Given the description of an element on the screen output the (x, y) to click on. 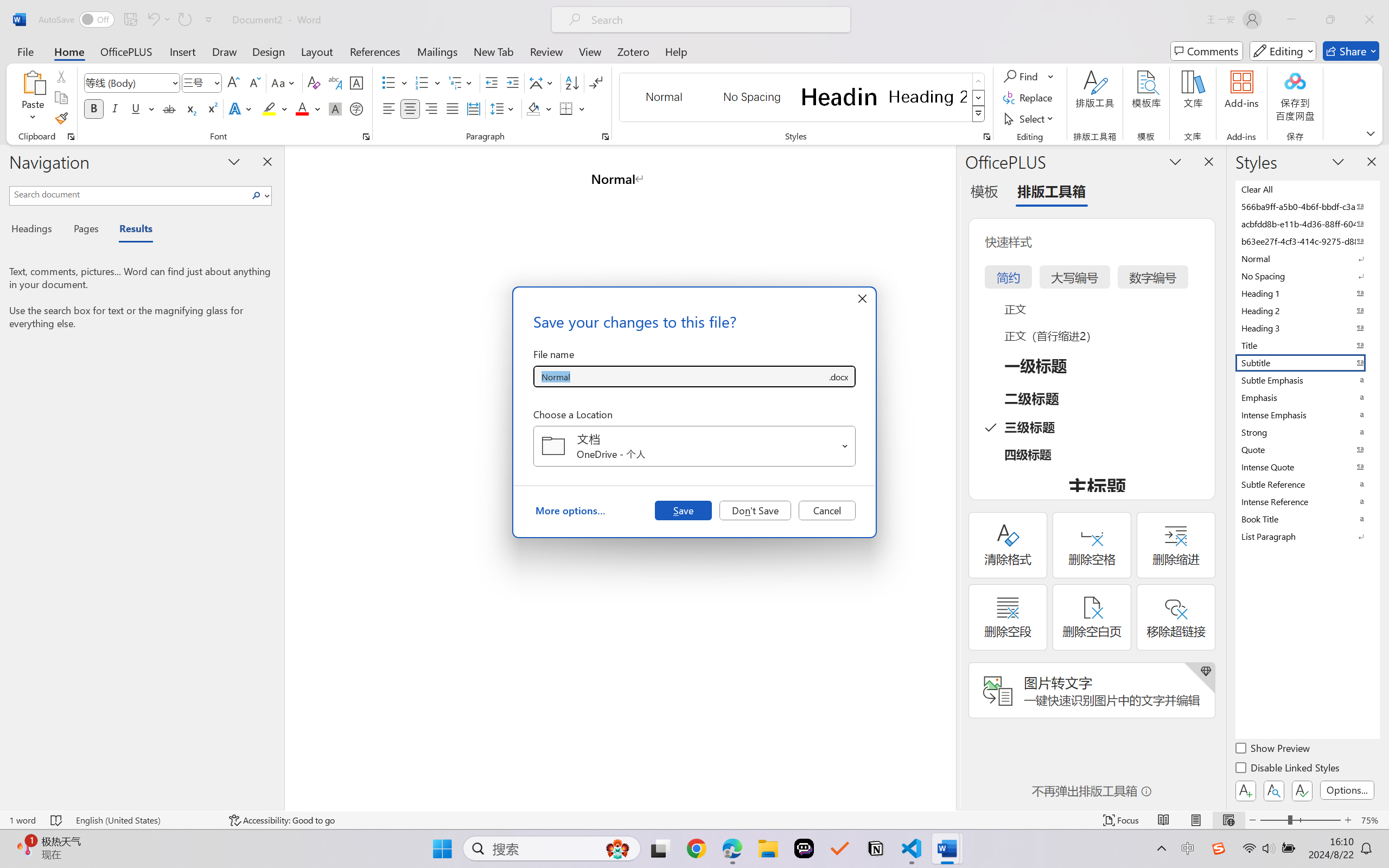
Options... (1346, 789)
Search (256, 195)
Title (1306, 345)
Font Size (201, 82)
Mailings (437, 51)
Emphasis (1306, 397)
List Paragraph (1306, 536)
Office Clipboard... (70, 136)
Copy (60, 97)
OfficePLUS (126, 51)
Shading (539, 108)
Google Chrome (696, 848)
Distributed (473, 108)
Normal (1306, 258)
Font... (365, 136)
